Given the description of an element on the screen output the (x, y) to click on. 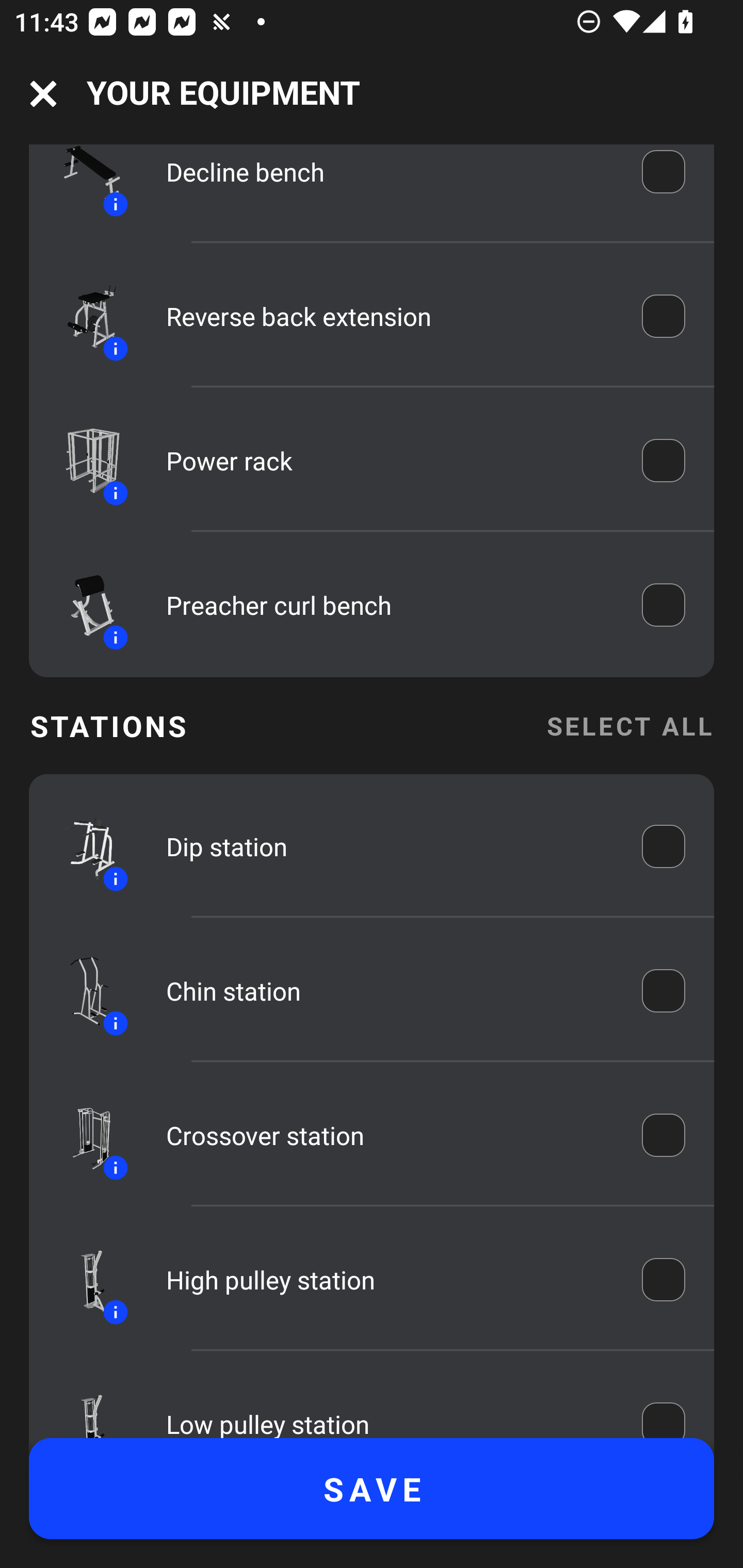
Navigation icon (43, 93)
Equipment icon Information icon (82, 184)
Decline bench (389, 179)
Equipment icon Information icon (82, 315)
Reverse back extension (389, 315)
Equipment icon Information icon (82, 460)
Power rack (389, 460)
Equipment icon Information icon (82, 604)
Preacher curl bench (389, 604)
SELECT ALL (629, 725)
Equipment icon Information icon (82, 845)
Dip station (389, 845)
Equipment icon Information icon (82, 990)
Chin station (389, 990)
Equipment icon Information icon (82, 1135)
Crossover station (389, 1135)
Equipment icon Information icon (82, 1280)
High pulley station (389, 1279)
Equipment icon (82, 1403)
Low pulley station (389, 1409)
SAVE (371, 1488)
